Given the description of an element on the screen output the (x, y) to click on. 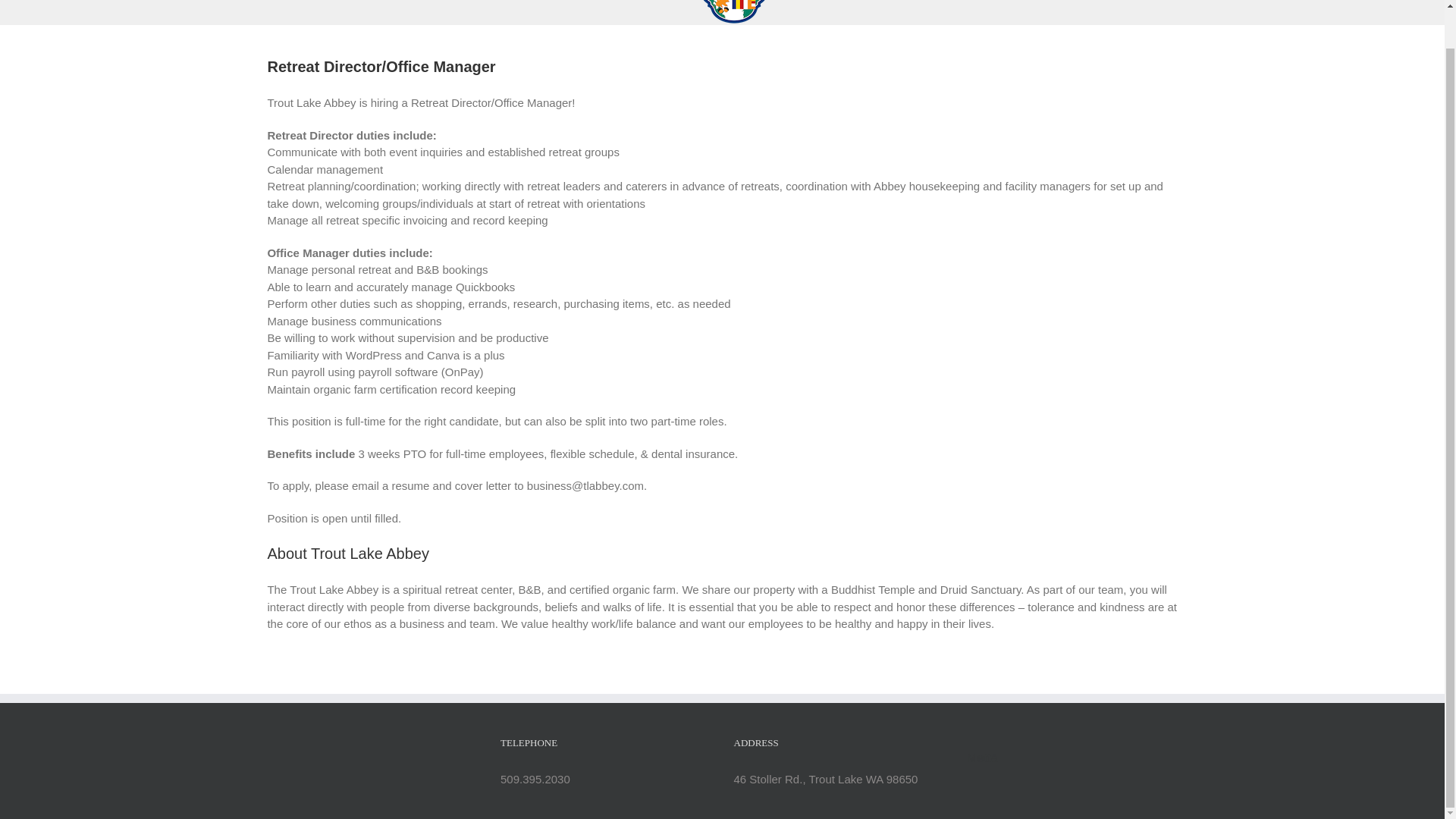
CALENDAR (834, 11)
TEMPLE AND SANCTUARY (590, 11)
VISIT (472, 11)
CONTACT (923, 11)
